Given the description of an element on the screen output the (x, y) to click on. 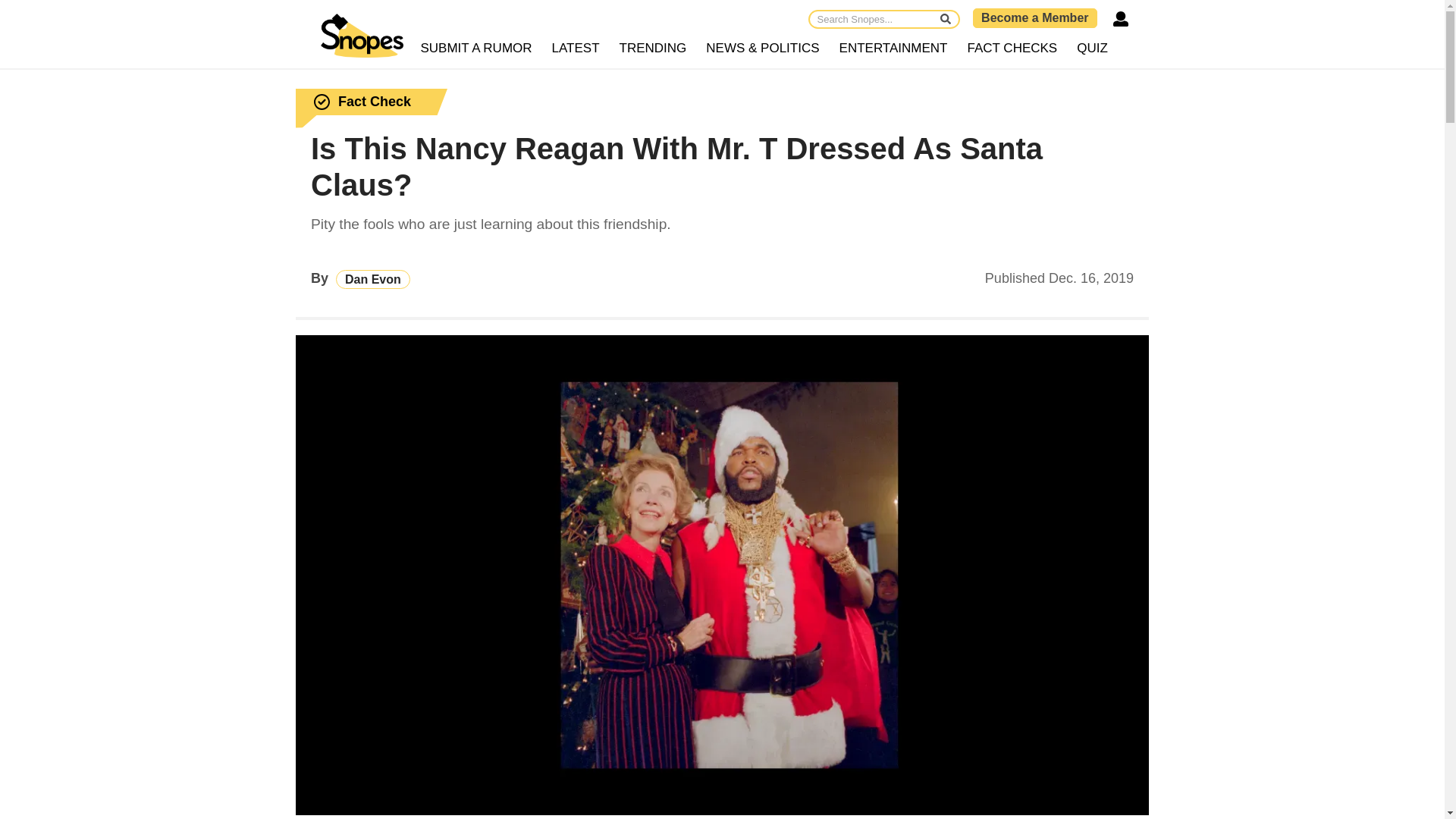
Dan Evon (373, 279)
ENTERTAINMENT (893, 47)
QUIZ (1092, 47)
Become a Member (1034, 17)
SUBMIT A RUMOR (475, 47)
LATEST (576, 47)
FACT CHECKS (1011, 47)
TRENDING (653, 47)
